Given the description of an element on the screen output the (x, y) to click on. 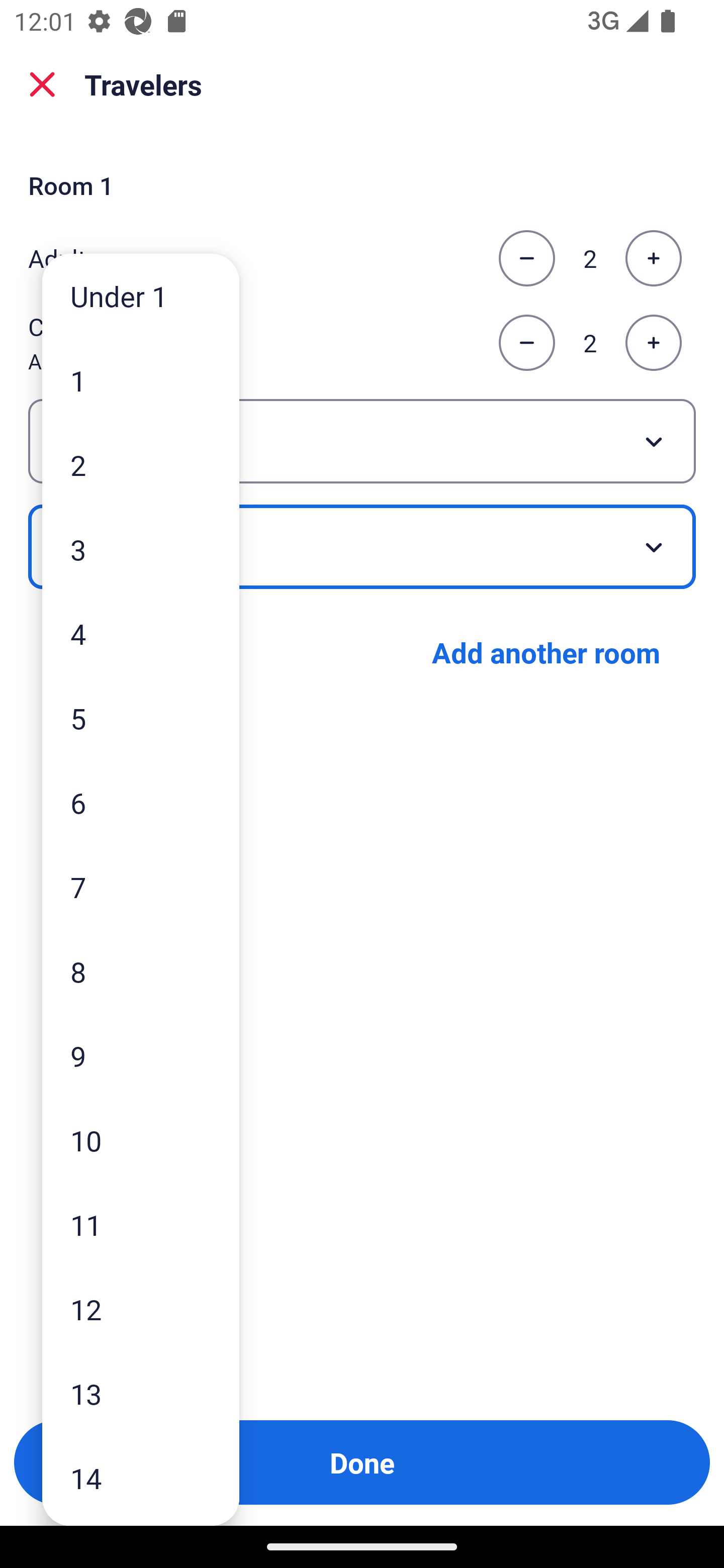
Under 1 (140, 296)
1 (140, 380)
2 (140, 464)
3 (140, 548)
4 (140, 633)
5 (140, 717)
6 (140, 802)
7 (140, 887)
8 (140, 970)
9 (140, 1054)
10 (140, 1139)
11 (140, 1224)
12 (140, 1308)
13 (140, 1393)
14 (140, 1478)
